Given the description of an element on the screen output the (x, y) to click on. 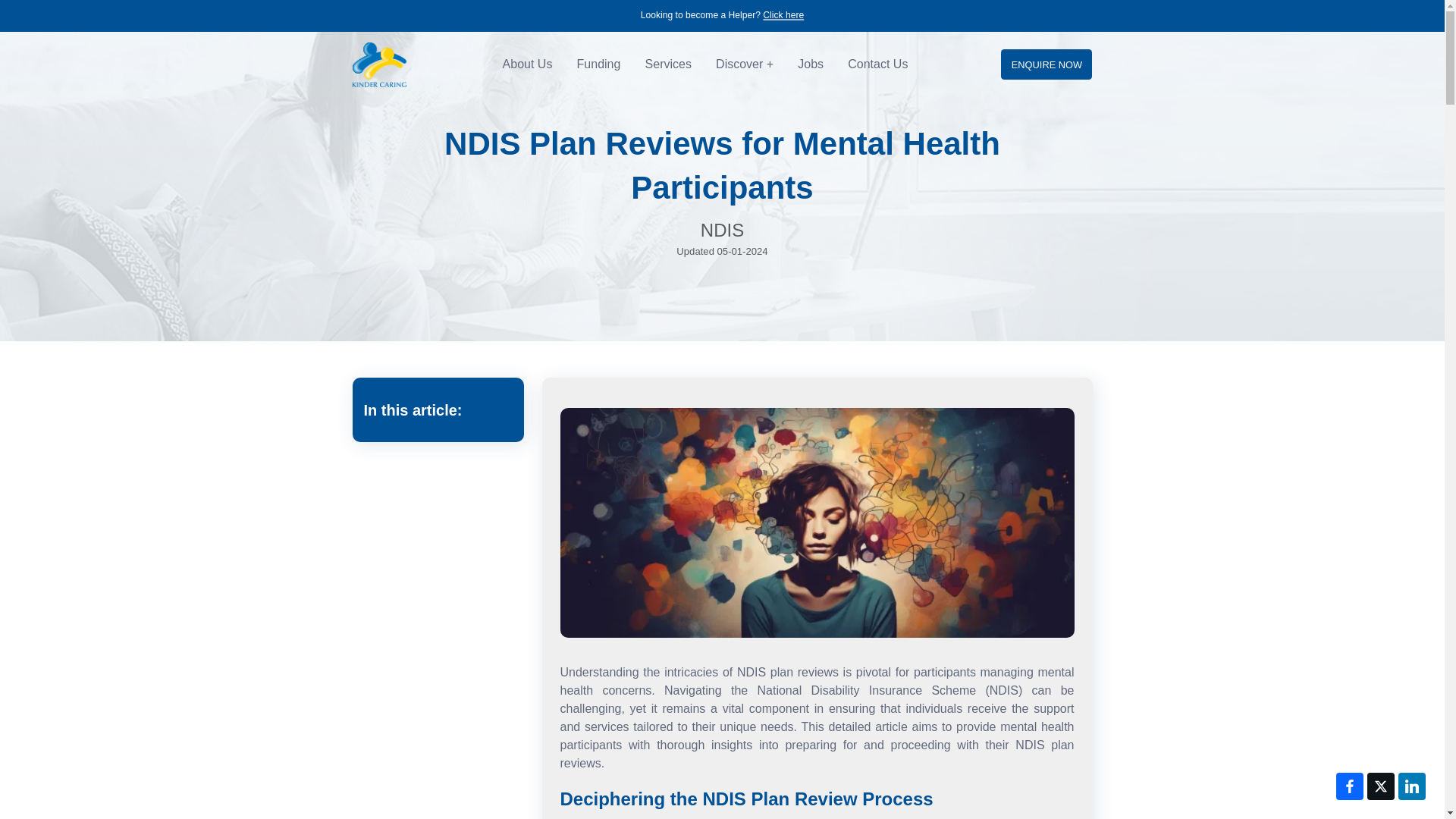
Jobs (810, 64)
Contact Us (877, 64)
Share on Twitter (1380, 786)
Share on LinkedIn (1411, 786)
Services (668, 64)
Click here (782, 15)
ENQUIRE NOW (1046, 64)
Share on Facebook (1349, 786)
About Us (527, 64)
Funding (598, 64)
